Given the description of an element on the screen output the (x, y) to click on. 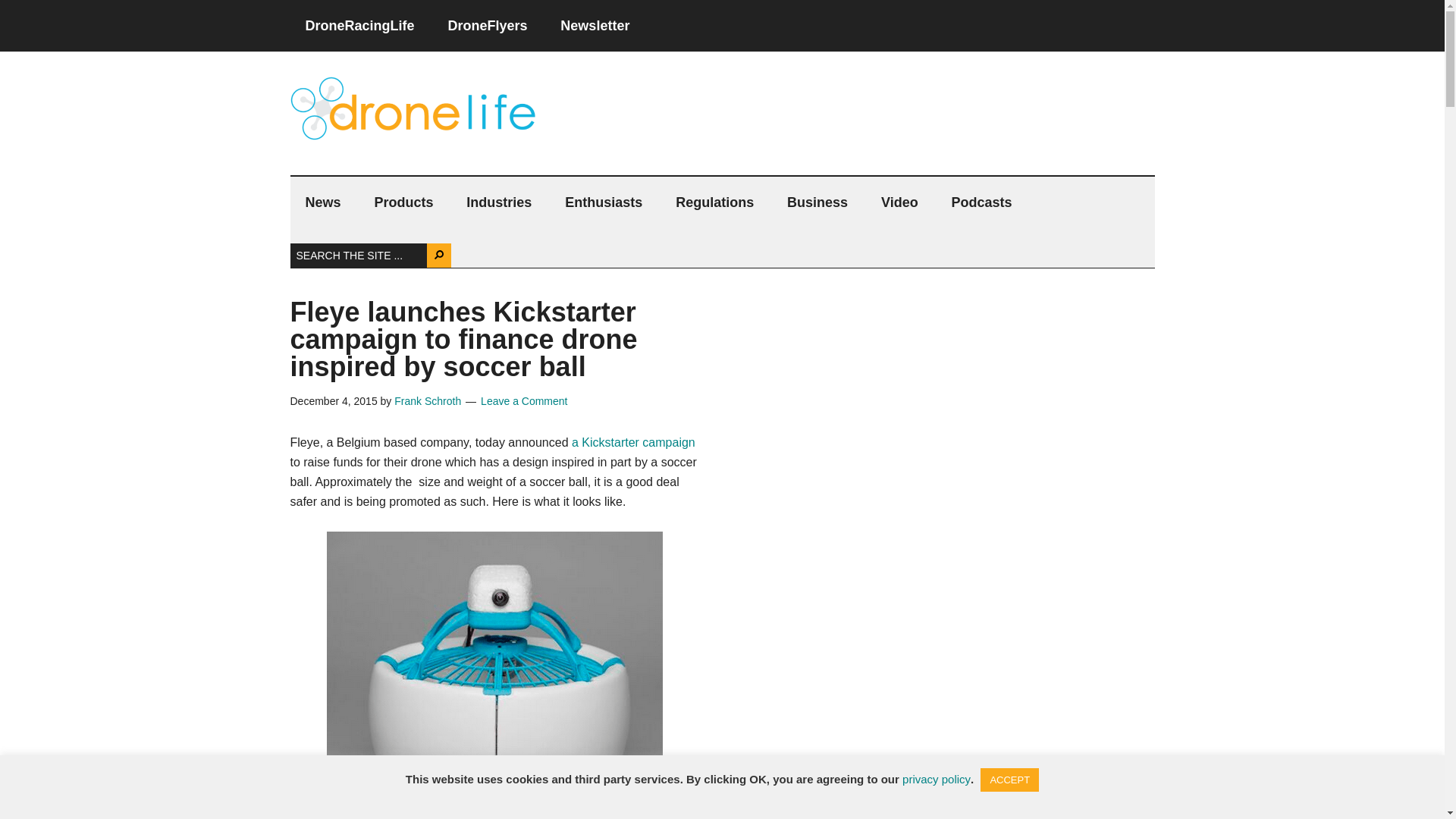
Frank Schroth (427, 400)
Regulations (714, 202)
Industries (499, 202)
Leave a Comment (523, 400)
Products (403, 202)
Business (817, 202)
DroneFlyers (486, 25)
DroneRacingLife (359, 25)
Podcasts (981, 202)
Newsletter (594, 25)
